Given the description of an element on the screen output the (x, y) to click on. 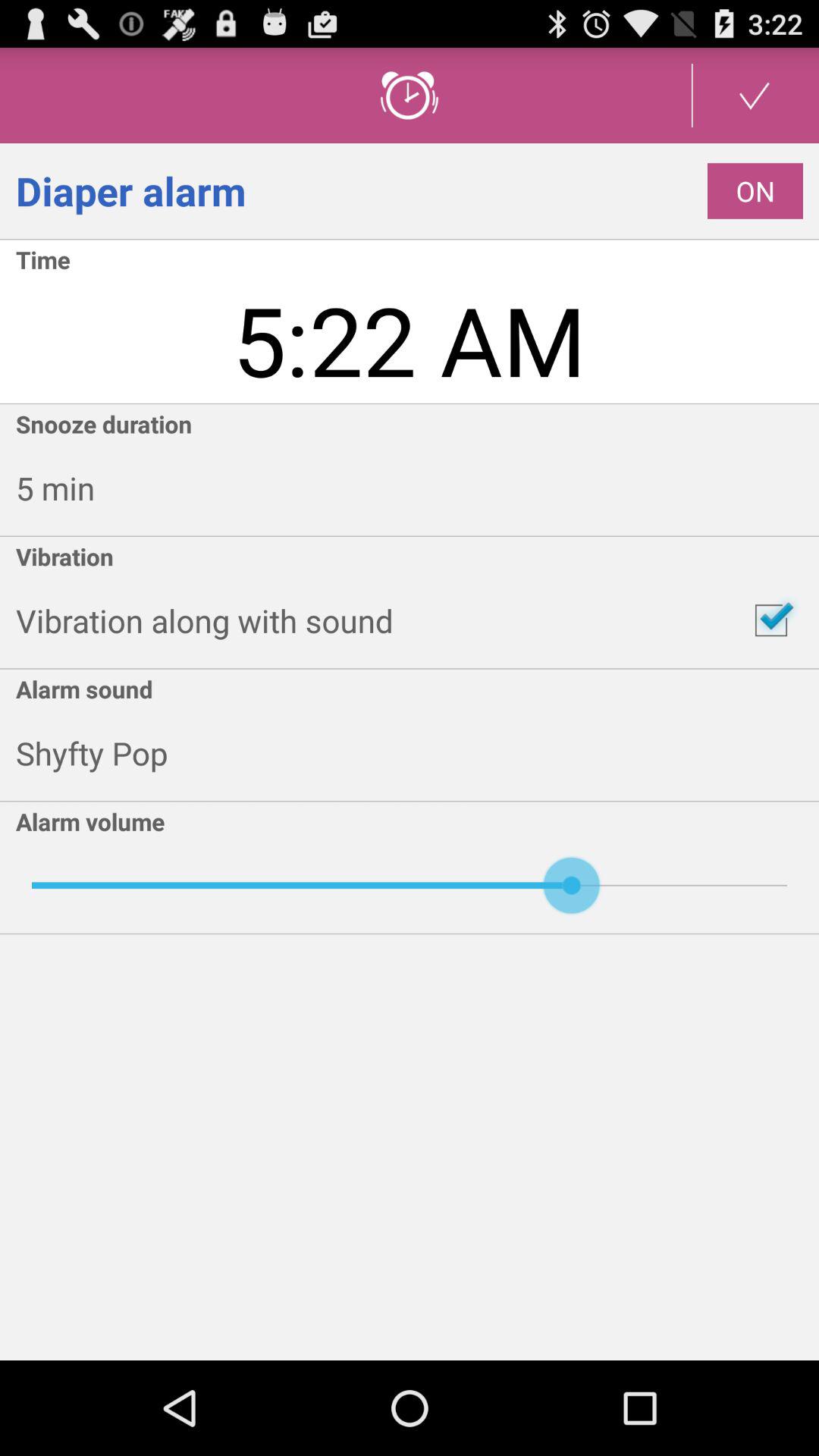
open item to the right of vibration along with (771, 620)
